Given the description of an element on the screen output the (x, y) to click on. 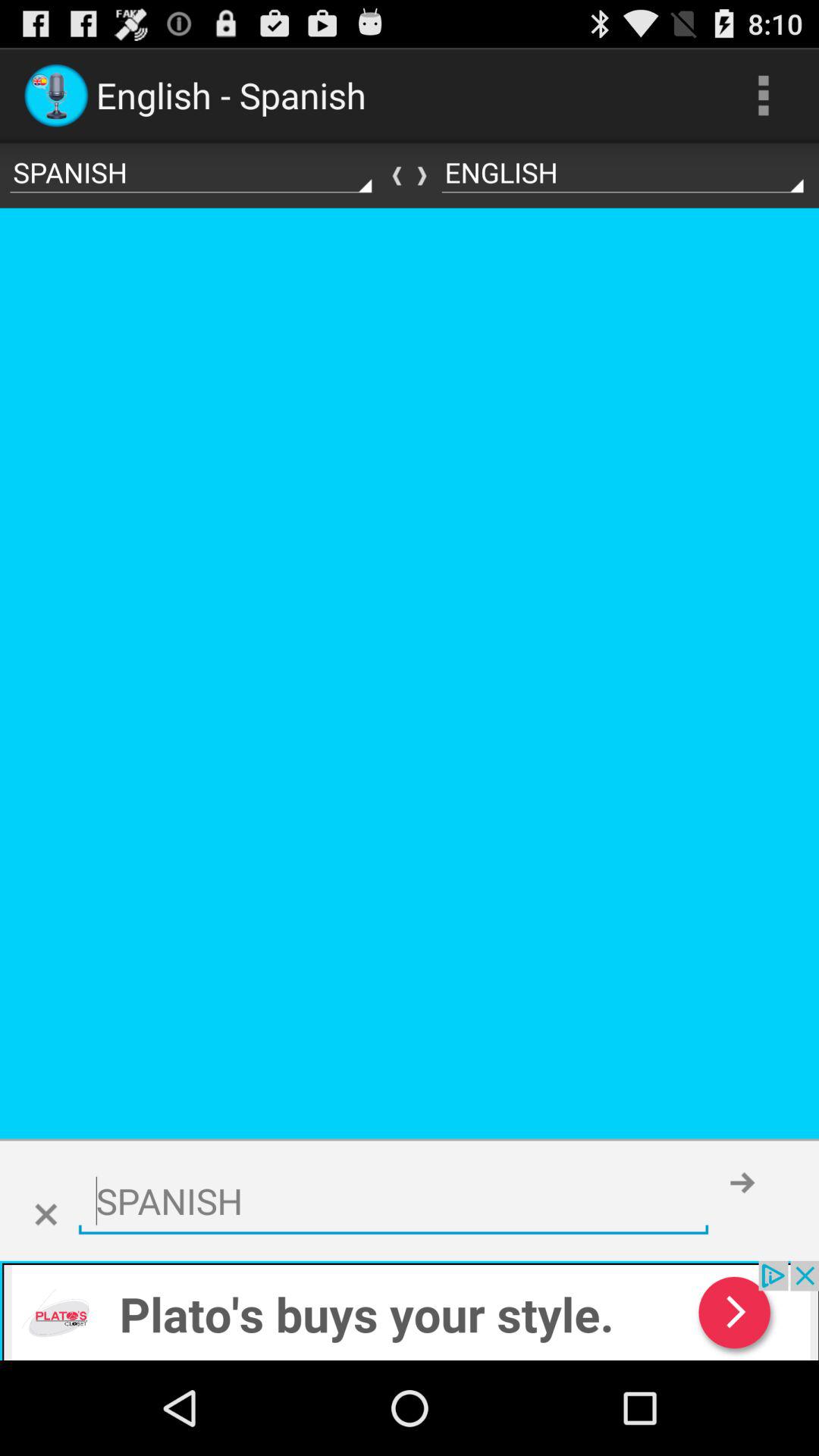
spanish box (393, 1201)
